Given the description of an element on the screen output the (x, y) to click on. 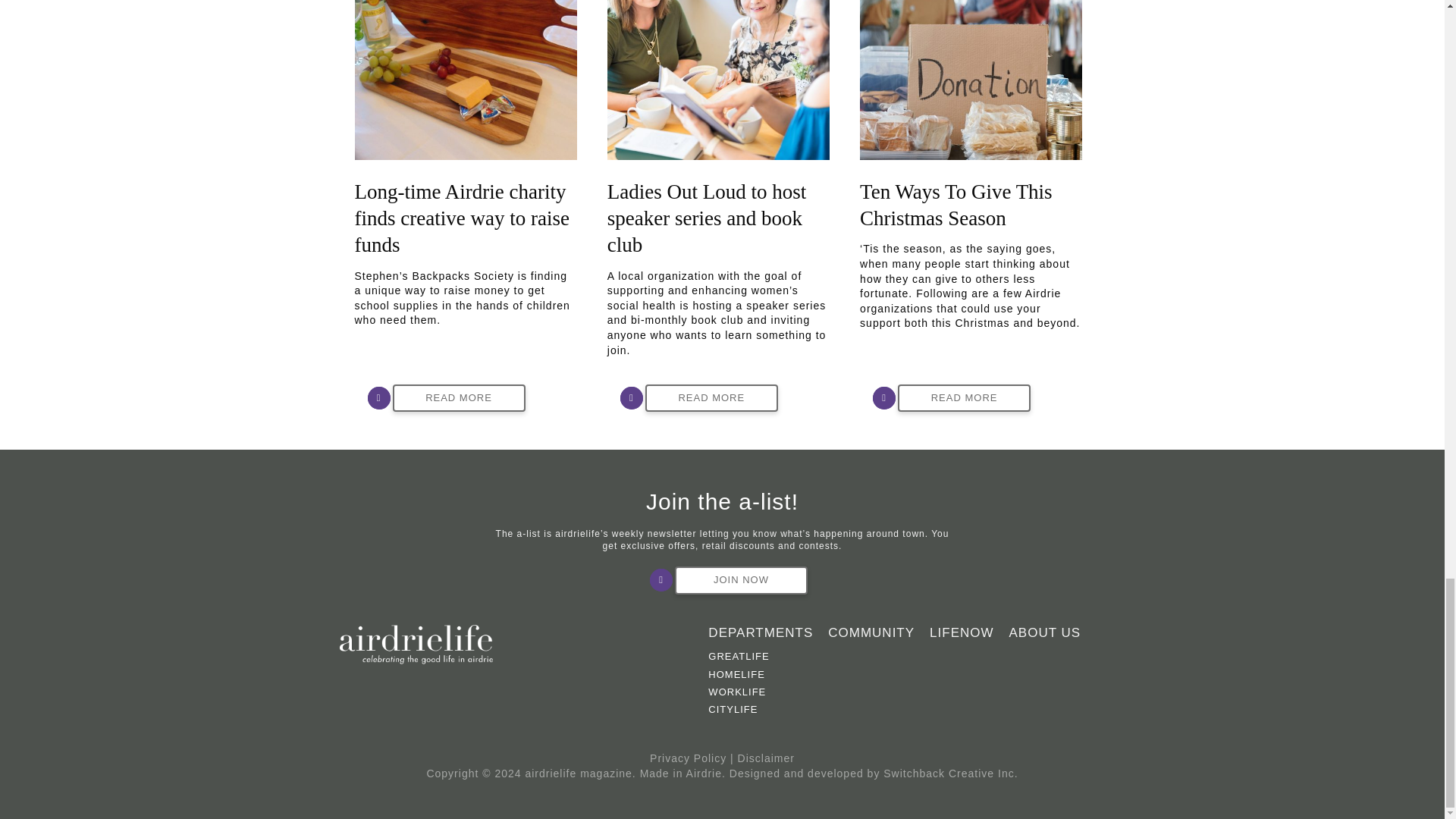
JOIN NOW (741, 580)
HOMELIFE (764, 674)
READ MORE (711, 398)
READ MORE (964, 398)
DEPARTMENTS (759, 632)
Ten Ways To Give This Christmas Season (970, 79)
Long-time Airdrie charity finds creative way to raise funds (465, 79)
READ MORE (459, 398)
Ten Ways To Give This Christmas Season (956, 205)
Long-time Airdrie charity finds creative way to raise funds (462, 218)
Ladies Out Loud to host speaker series and book club (718, 79)
Switchback Creative Inc. (950, 773)
Ladies Out Loud to host speaker series and book club (706, 218)
Long-time Airdrie charity finds creative way to raise funds (462, 218)
Ladies Out Loud to host speaker series and book club (706, 218)
